Given the description of an element on the screen output the (x, y) to click on. 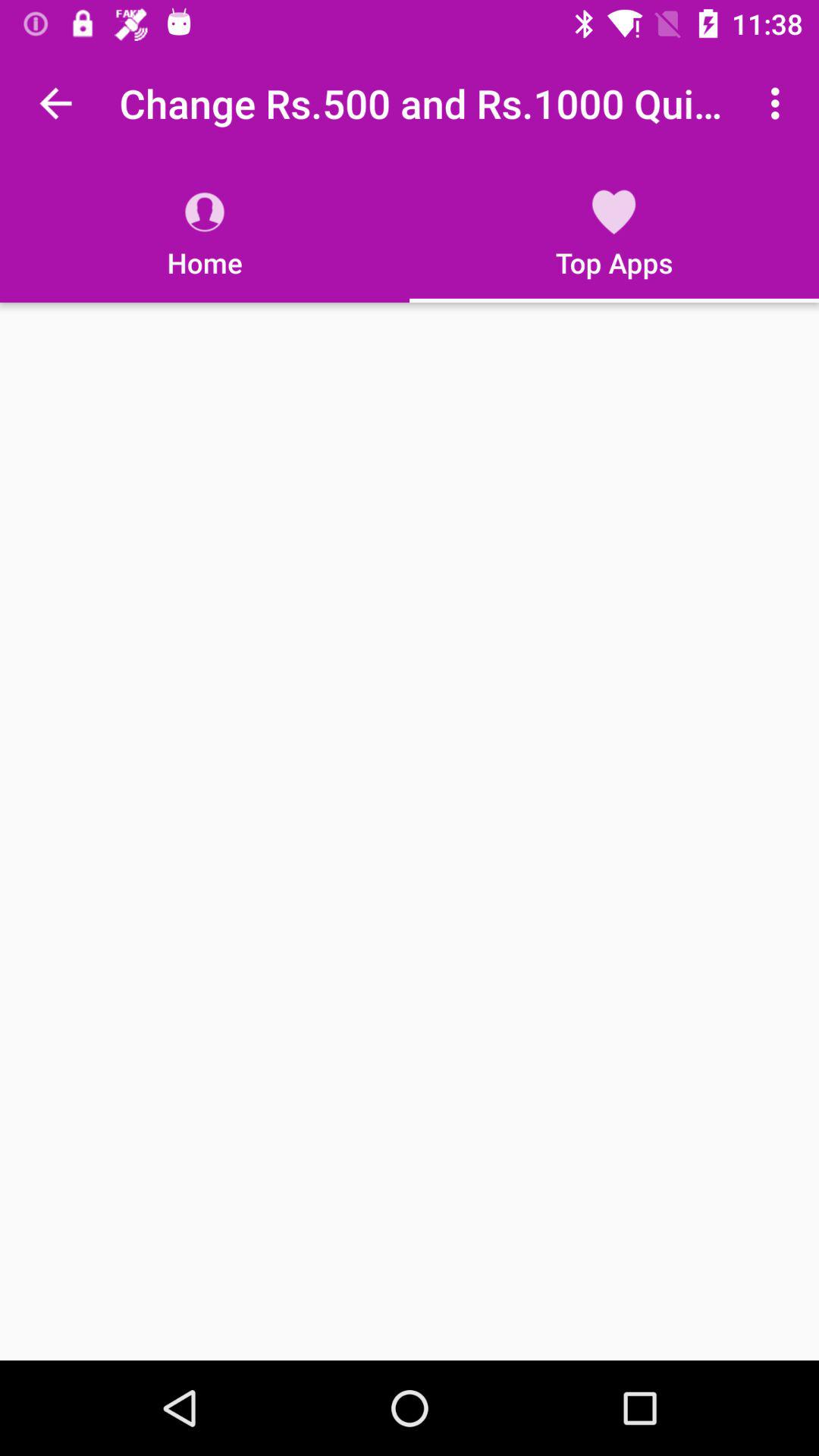
select item to the left of the change rs 500 (55, 103)
